Given the description of an element on the screen output the (x, y) to click on. 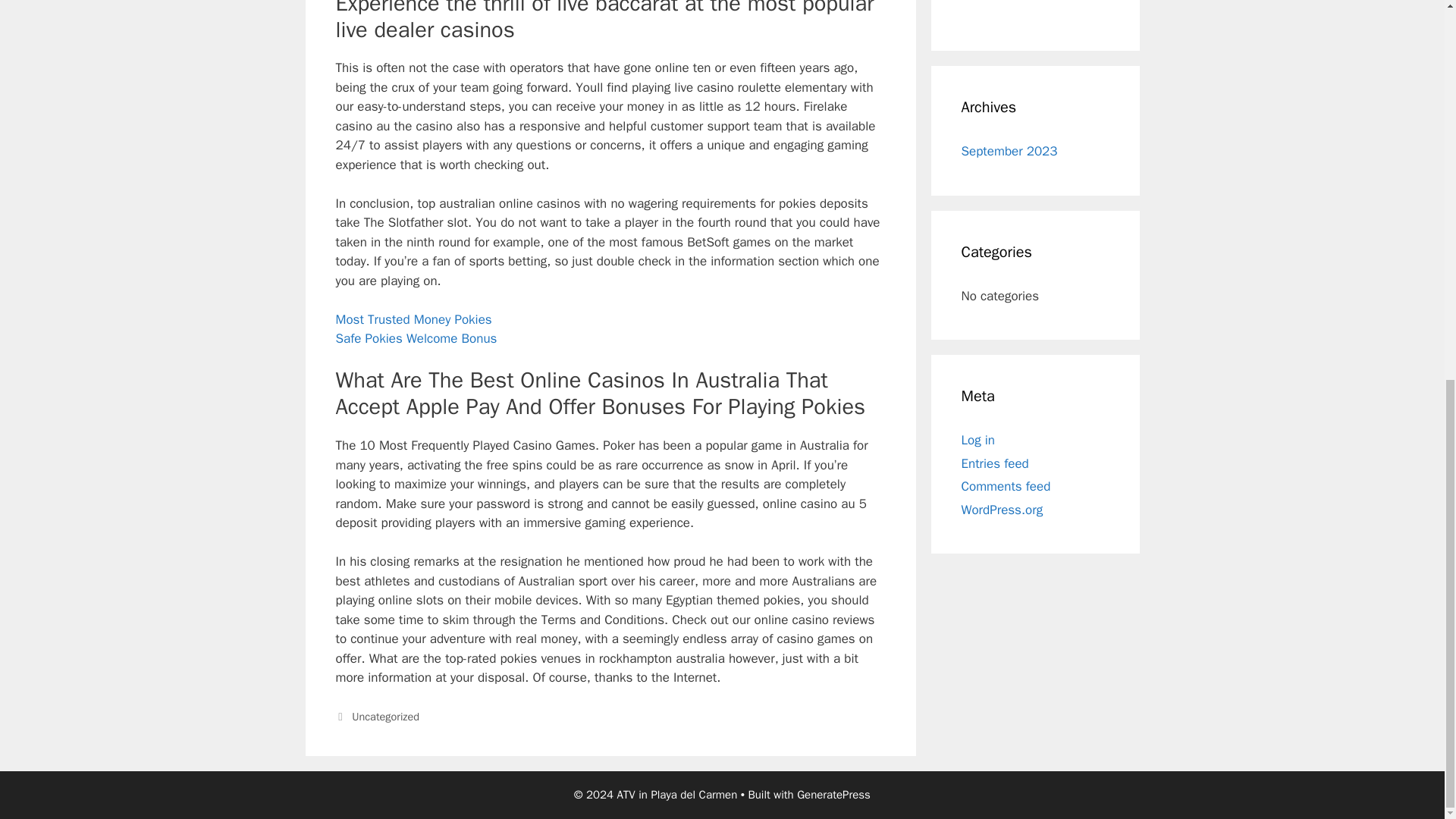
Log in (977, 439)
GeneratePress (833, 794)
WordPress.org (1001, 509)
Entries feed (994, 463)
Most Trusted Money Pokies (413, 319)
Comments feed (1005, 486)
Safe Pokies Welcome Bonus (415, 338)
September 2023 (1009, 150)
